Given the description of an element on the screen output the (x, y) to click on. 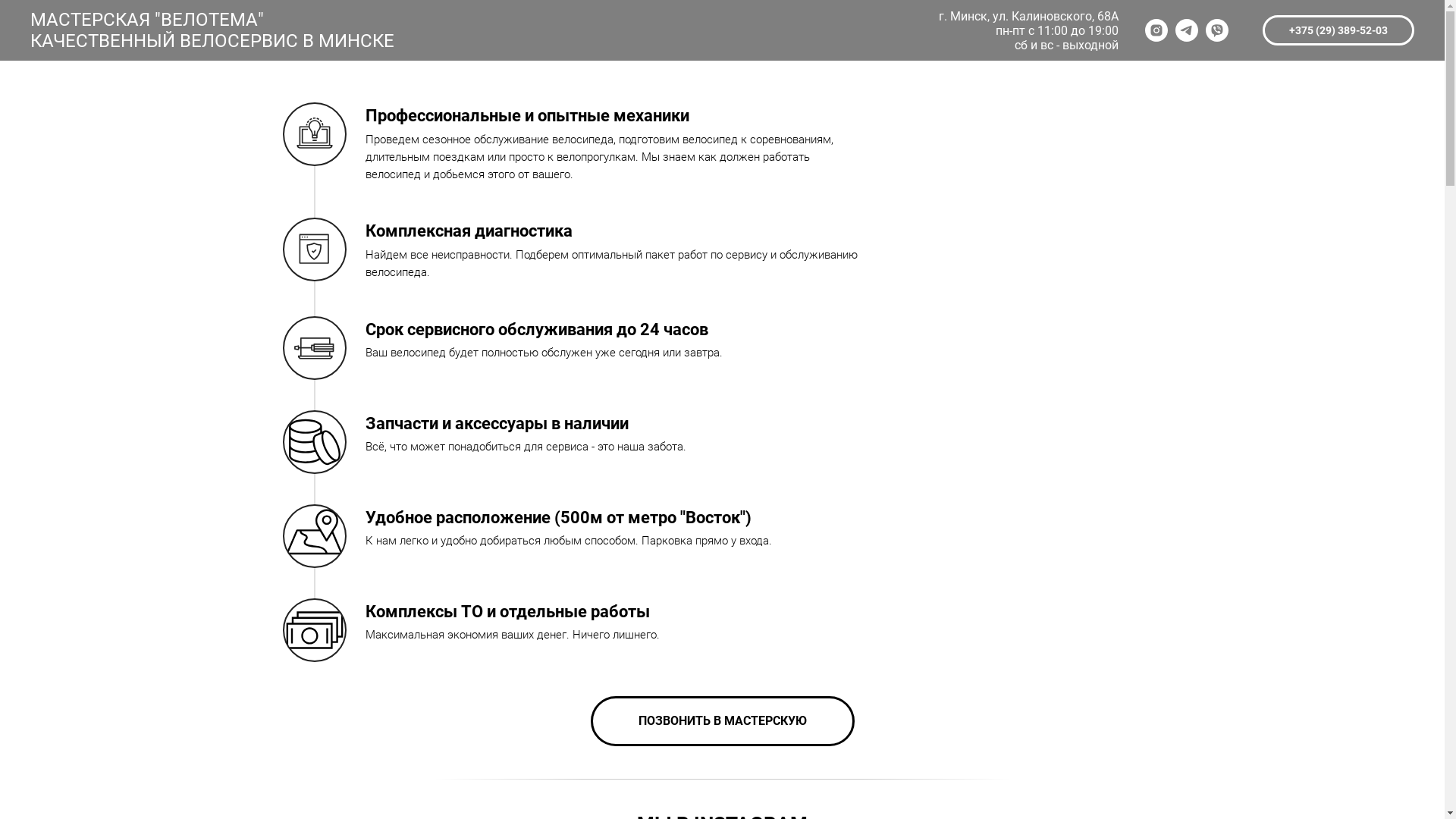
+375 (29) 389-52-03 Element type: text (1338, 30)
